Given the description of an element on the screen output the (x, y) to click on. 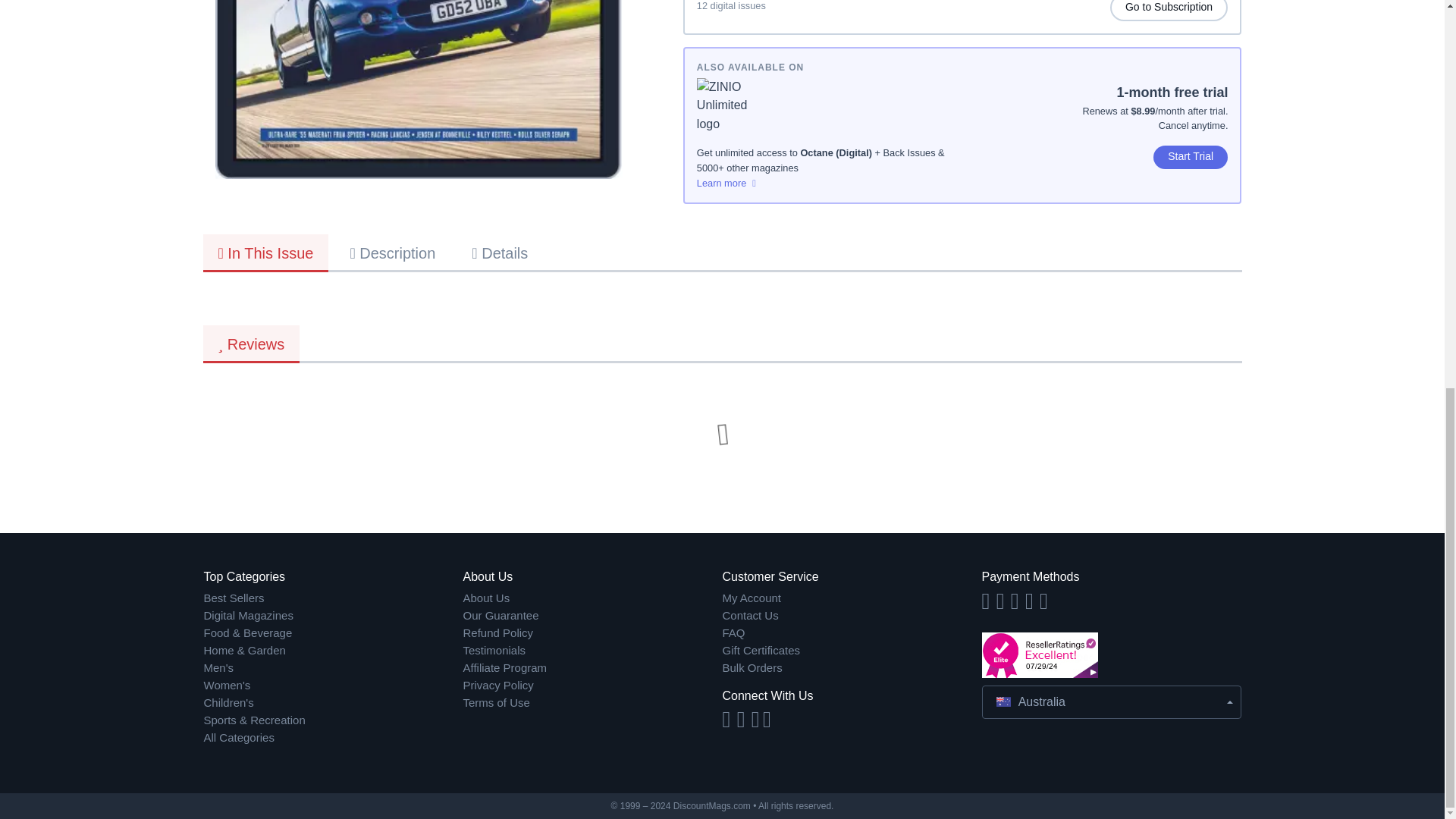
All Categories (333, 737)
Testimonials (592, 651)
In This Issue (266, 252)
Details (500, 252)
Best Sellers (333, 598)
Refund Policy (592, 633)
Digital Magazines (333, 615)
Privacy Policy (592, 685)
Women's (333, 685)
About Us (592, 598)
Men's (333, 668)
Children's (333, 702)
Our Guarantee (592, 615)
Reviews (251, 344)
Go to Subscription (1168, 11)
